Given the description of an element on the screen output the (x, y) to click on. 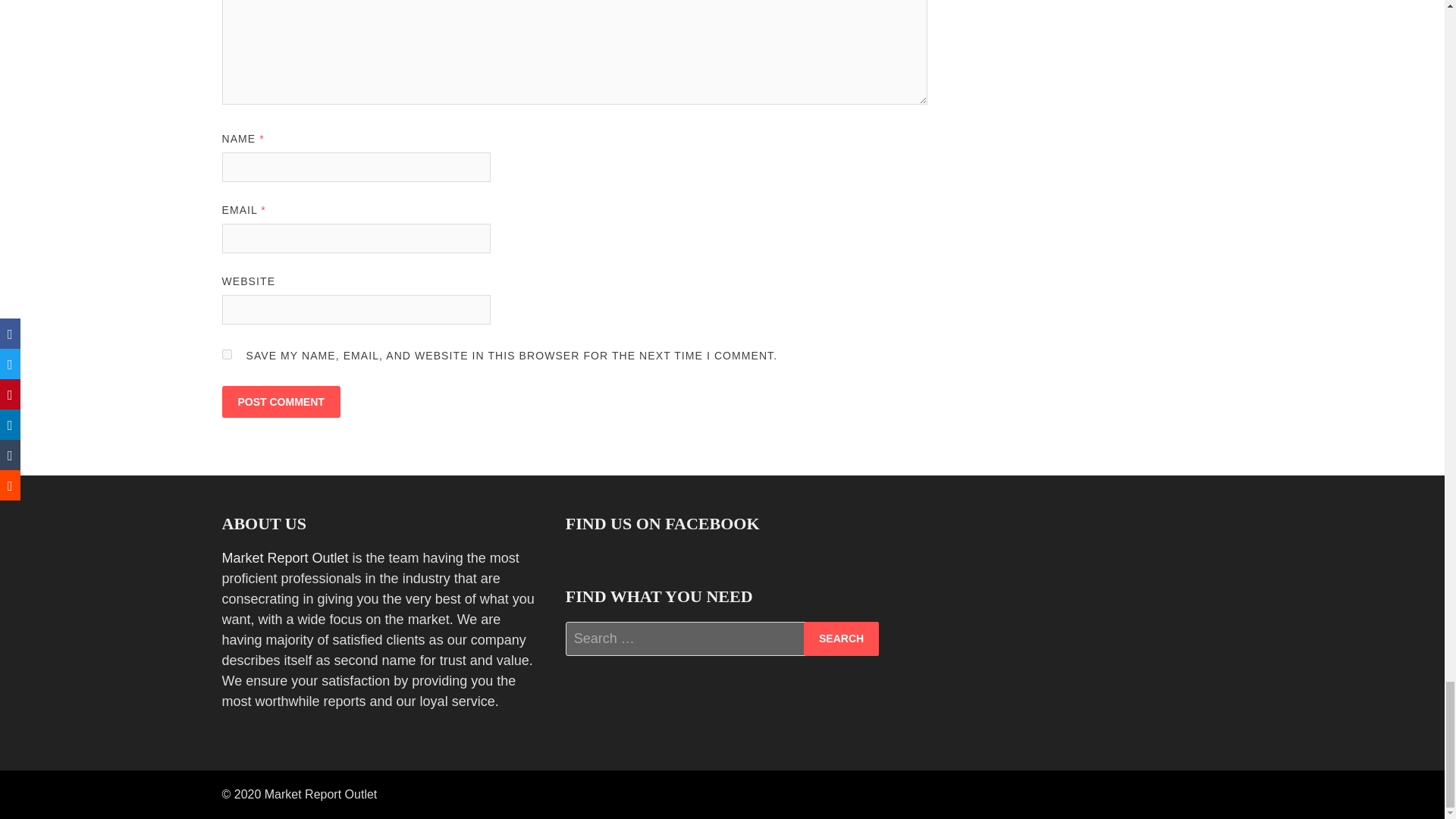
Search (841, 638)
Search (841, 638)
Post Comment (280, 401)
yes (226, 354)
